Given the description of an element on the screen output the (x, y) to click on. 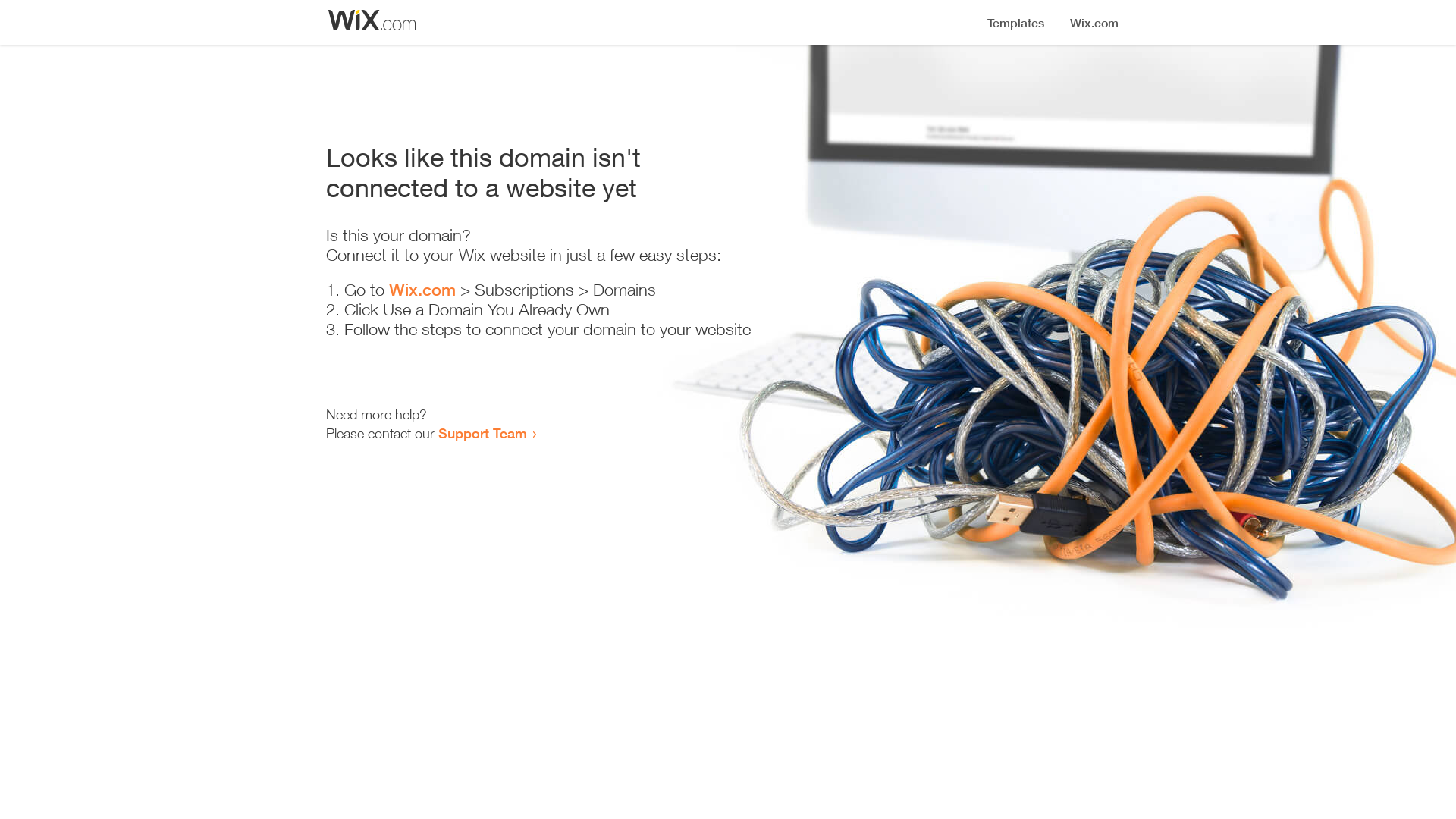
Support Team Element type: text (482, 432)
Wix.com Element type: text (422, 289)
